Given the description of an element on the screen output the (x, y) to click on. 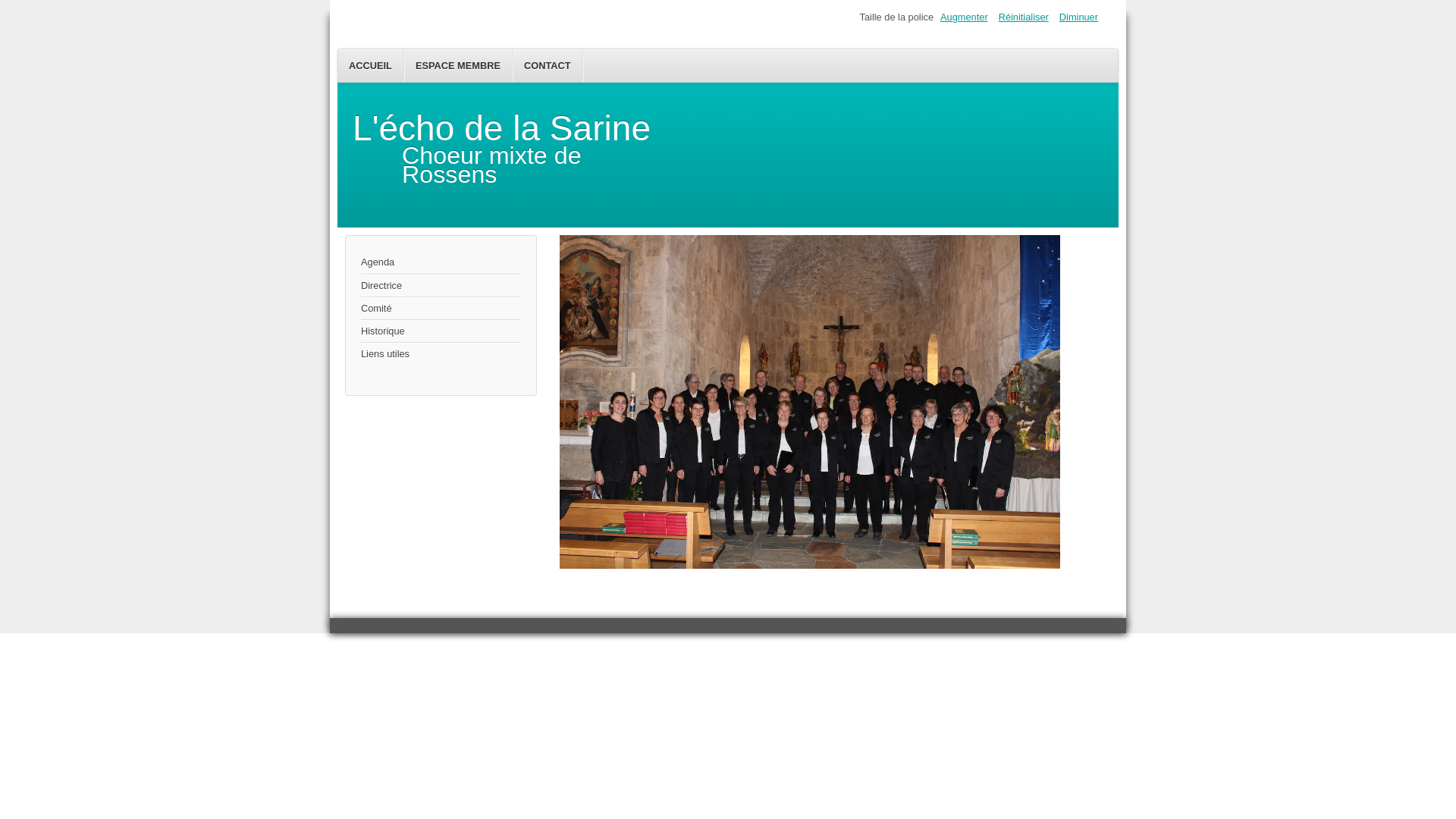
Diminuer Element type: text (1078, 16)
Augmenter Element type: text (963, 16)
Liens utiles Element type: text (440, 353)
ACCUEIL Element type: text (370, 65)
CONTACT Element type: text (547, 65)
Agenda Element type: text (440, 262)
Historique Element type: text (440, 331)
ESPACE MEMBRE Element type: text (458, 65)
Directrice Element type: text (440, 285)
